Given the description of an element on the screen output the (x, y) to click on. 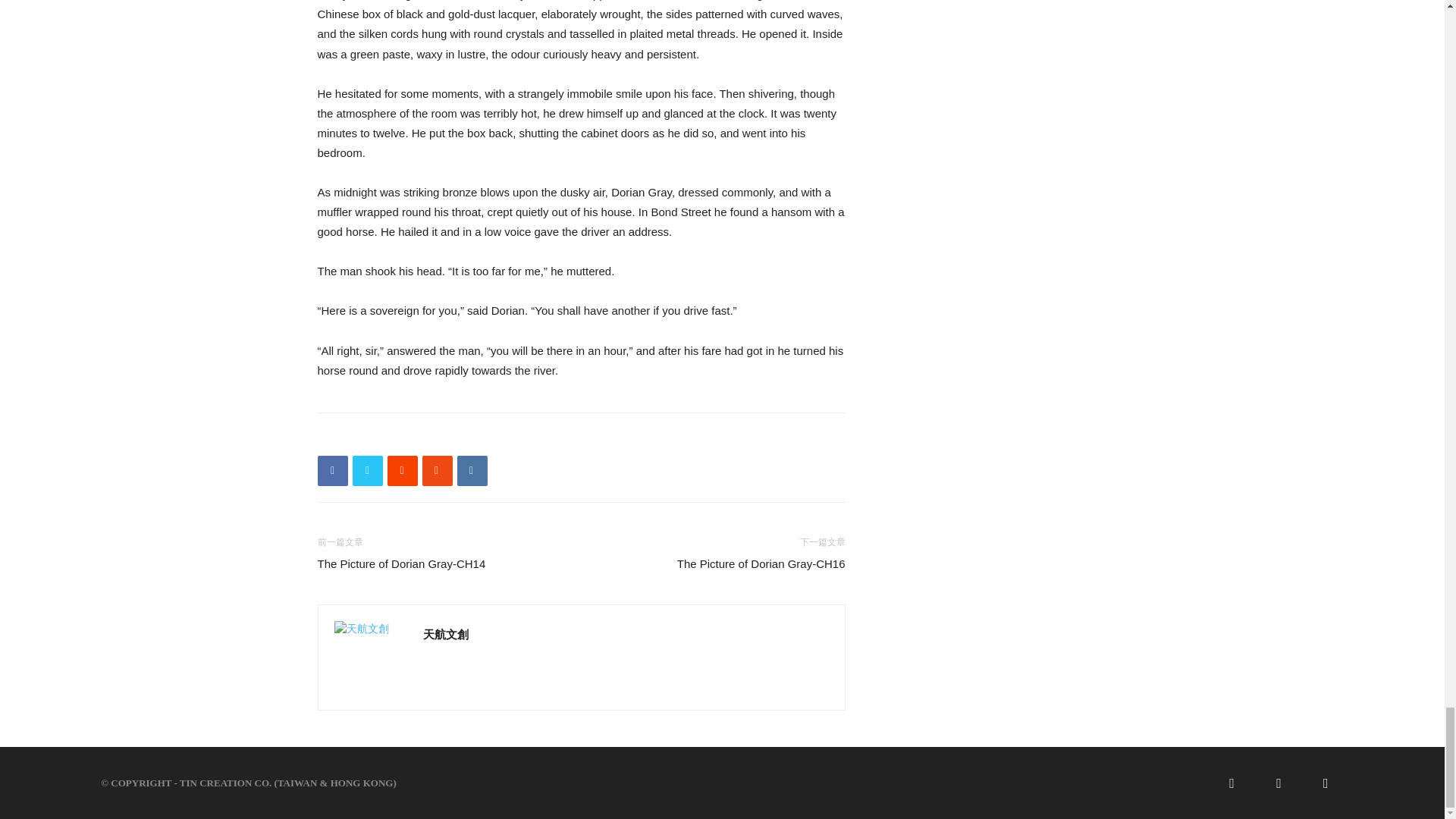
Twitter (366, 470)
ReddIt (401, 470)
The Picture of Dorian Gray-CH14 (400, 563)
Facebook (332, 470)
bottomFacebookLike (430, 437)
Mix (436, 470)
The Picture of Dorian Gray-CH16 (761, 563)
